Given the description of an element on the screen output the (x, y) to click on. 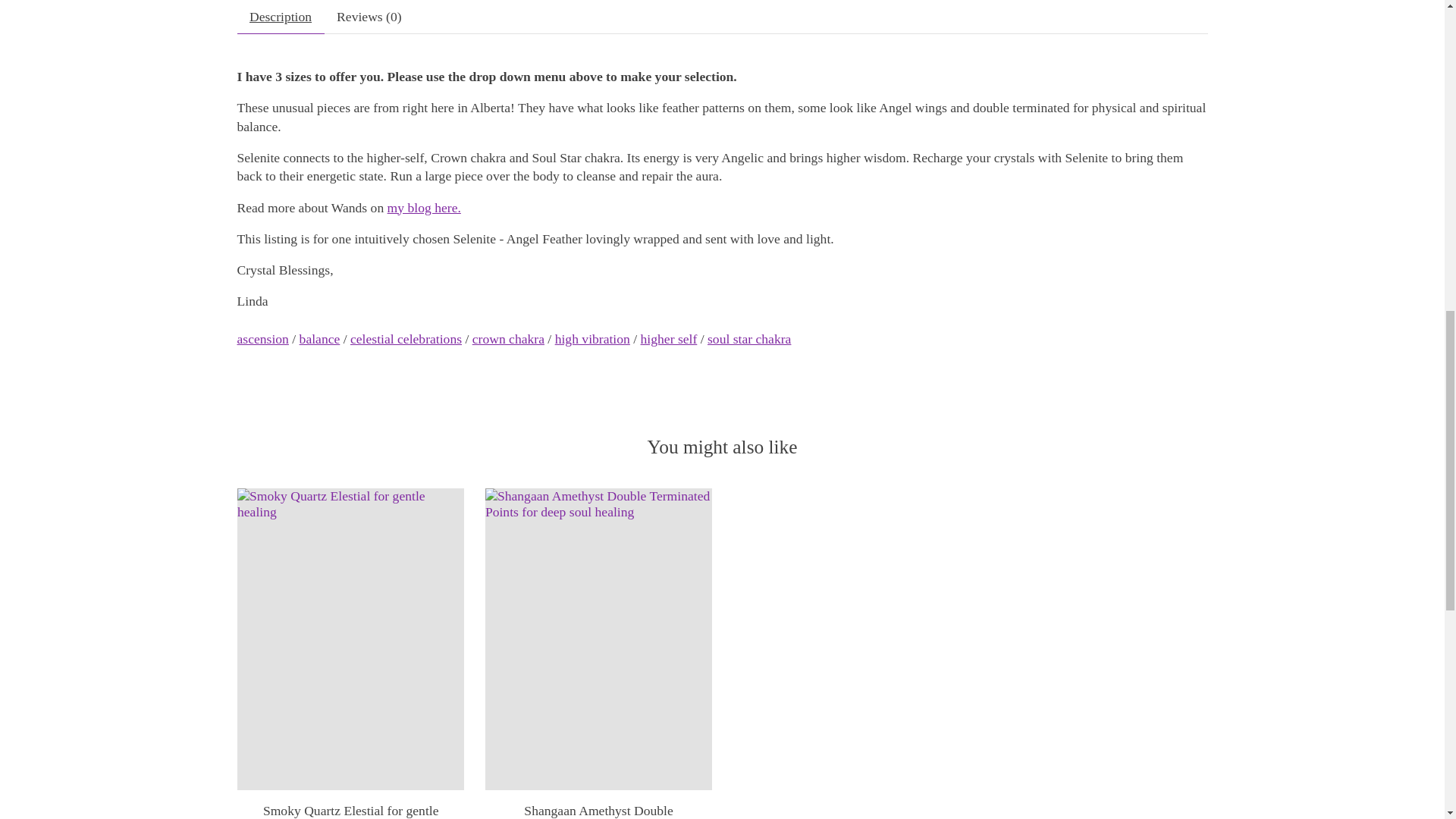
soul star chakra (748, 338)
celestial celebrations (405, 338)
balance (319, 338)
higher self (668, 338)
ascension (261, 338)
crown chakra (507, 338)
high vibration (592, 338)
